Given the description of an element on the screen output the (x, y) to click on. 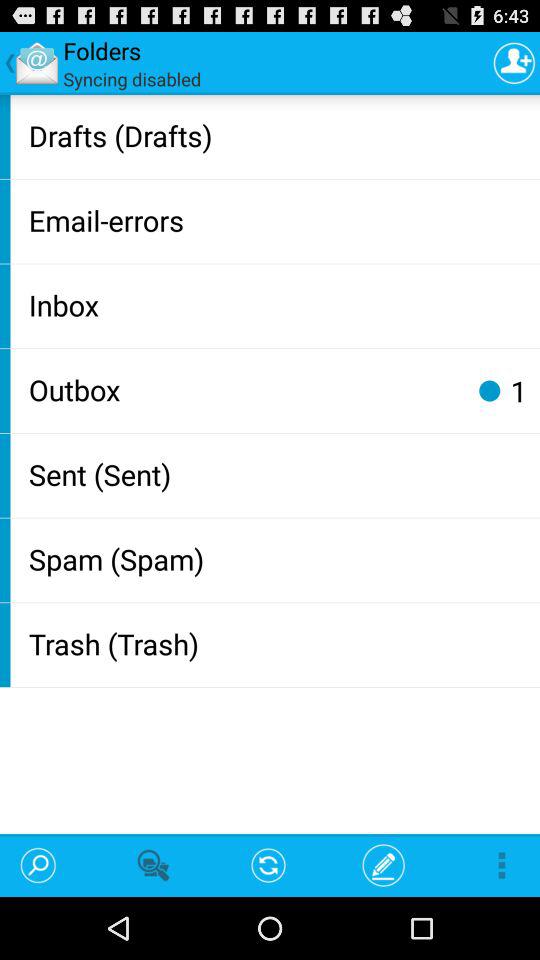
add a recipient (514, 62)
